Given the description of an element on the screen output the (x, y) to click on. 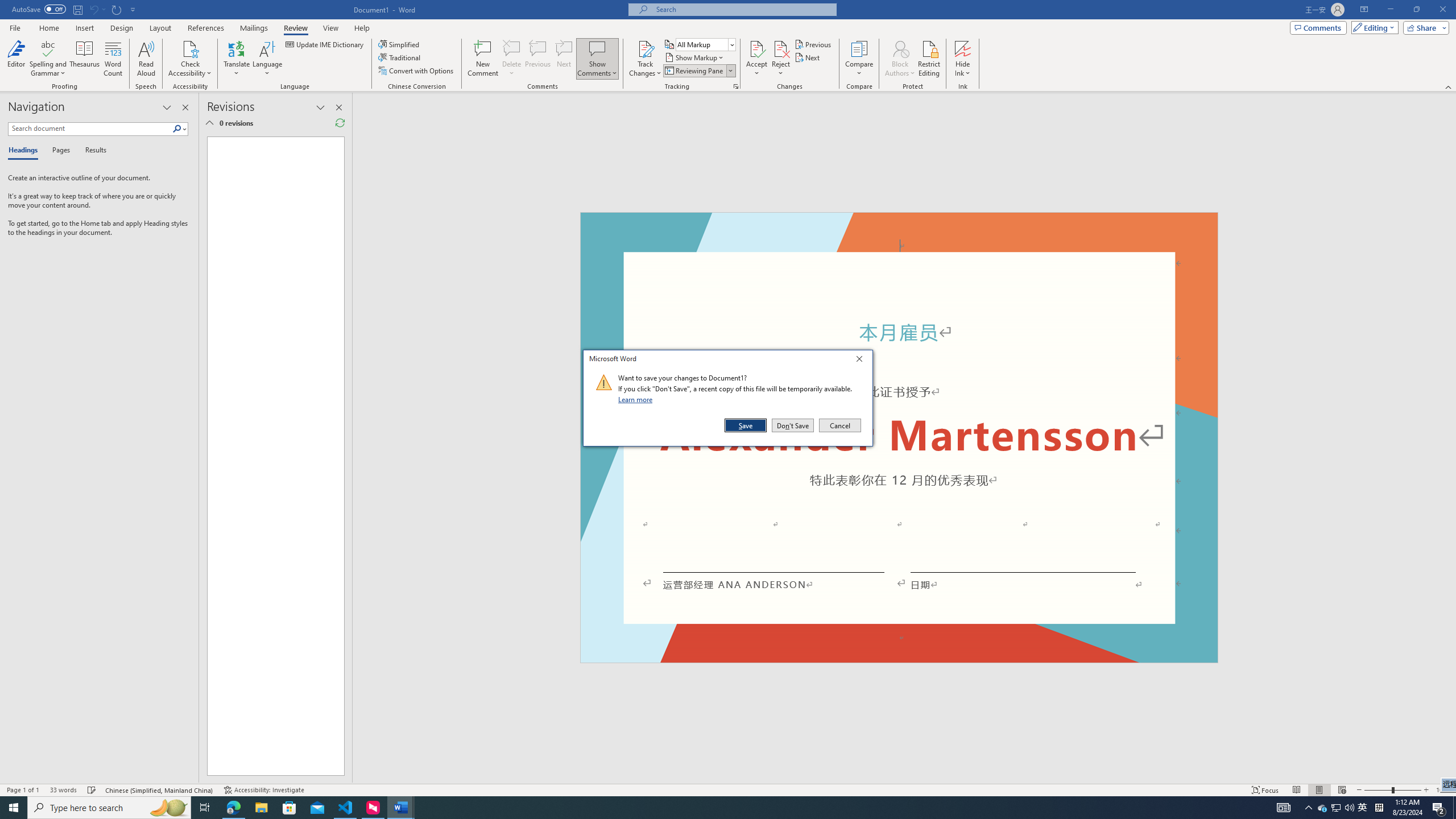
Read Mode (1296, 790)
Refresh Reviewing Pane (339, 122)
Page Number Page 1 of 1 (22, 790)
Ribbon Display Options (1364, 9)
Convert with Options... (417, 69)
Show Comments (597, 58)
Web Layout (1342, 790)
Editor (16, 58)
Simplified (400, 44)
Q2790: 100% (1349, 807)
Search (177, 128)
Repeat Doc Close (117, 9)
Task Pane Options (167, 107)
Page 1 content (271, 455)
